Given the description of an element on the screen output the (x, y) to click on. 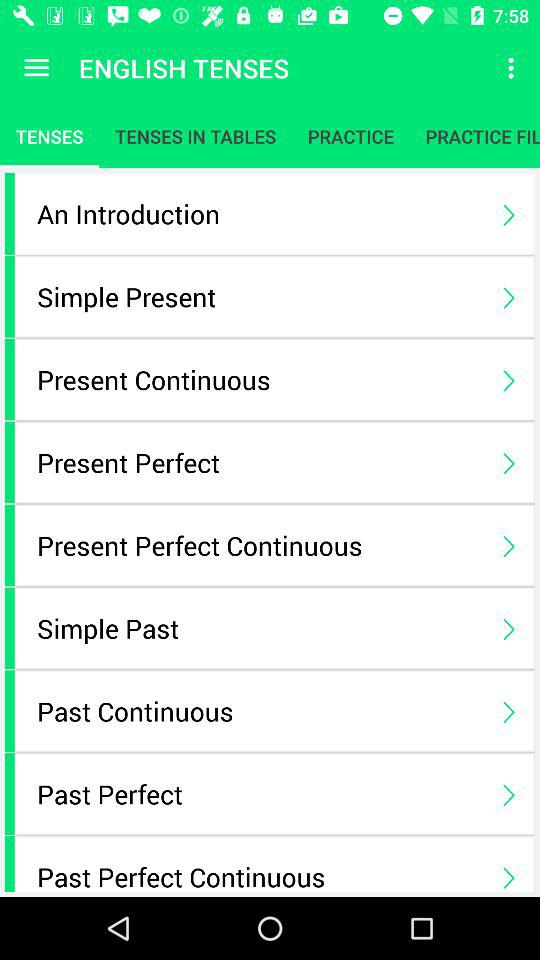
swipe until the simple past (259, 627)
